Given the description of an element on the screen output the (x, y) to click on. 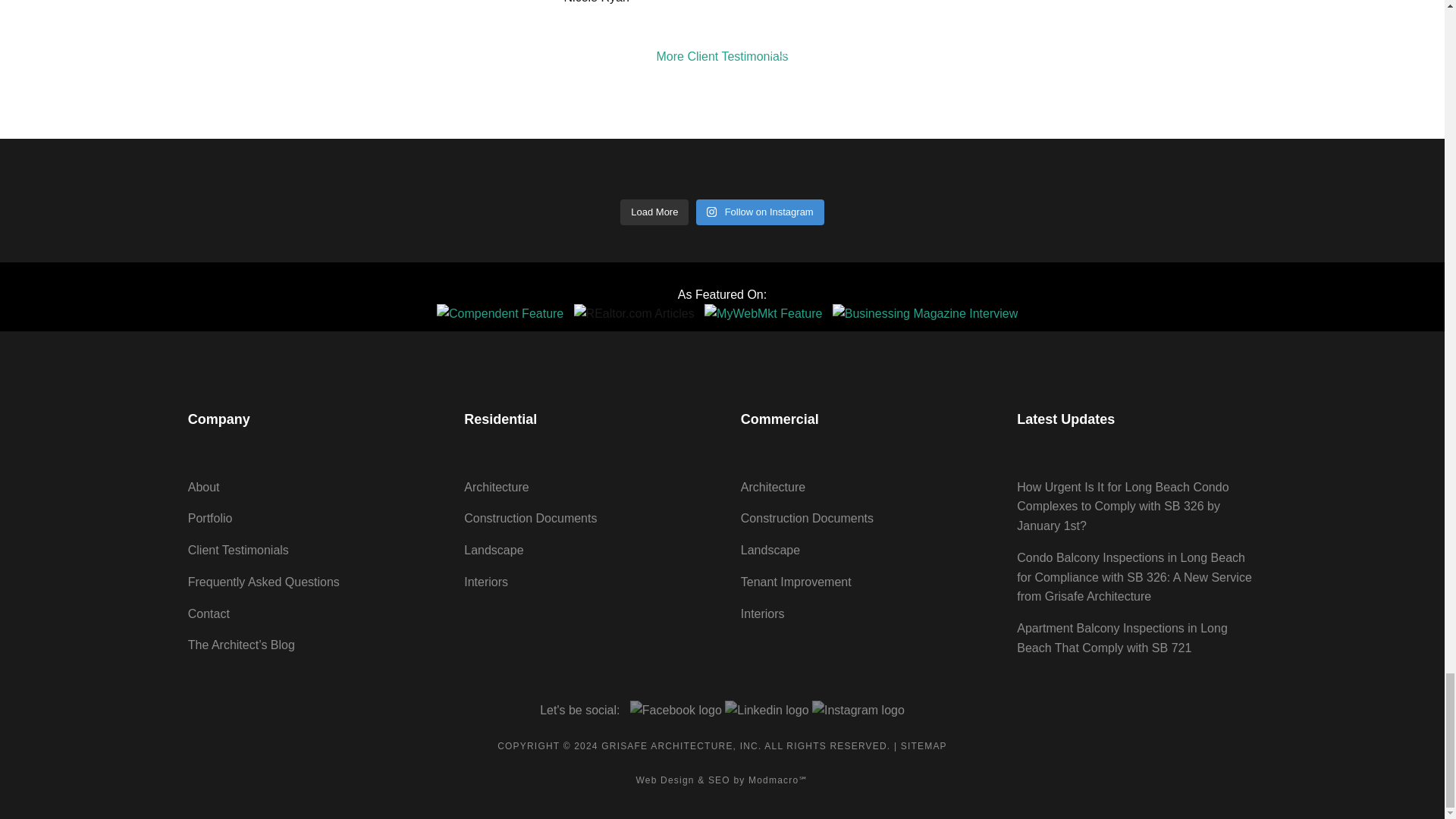
More Client Testimonials (722, 56)
